Given the description of an element on the screen output the (x, y) to click on. 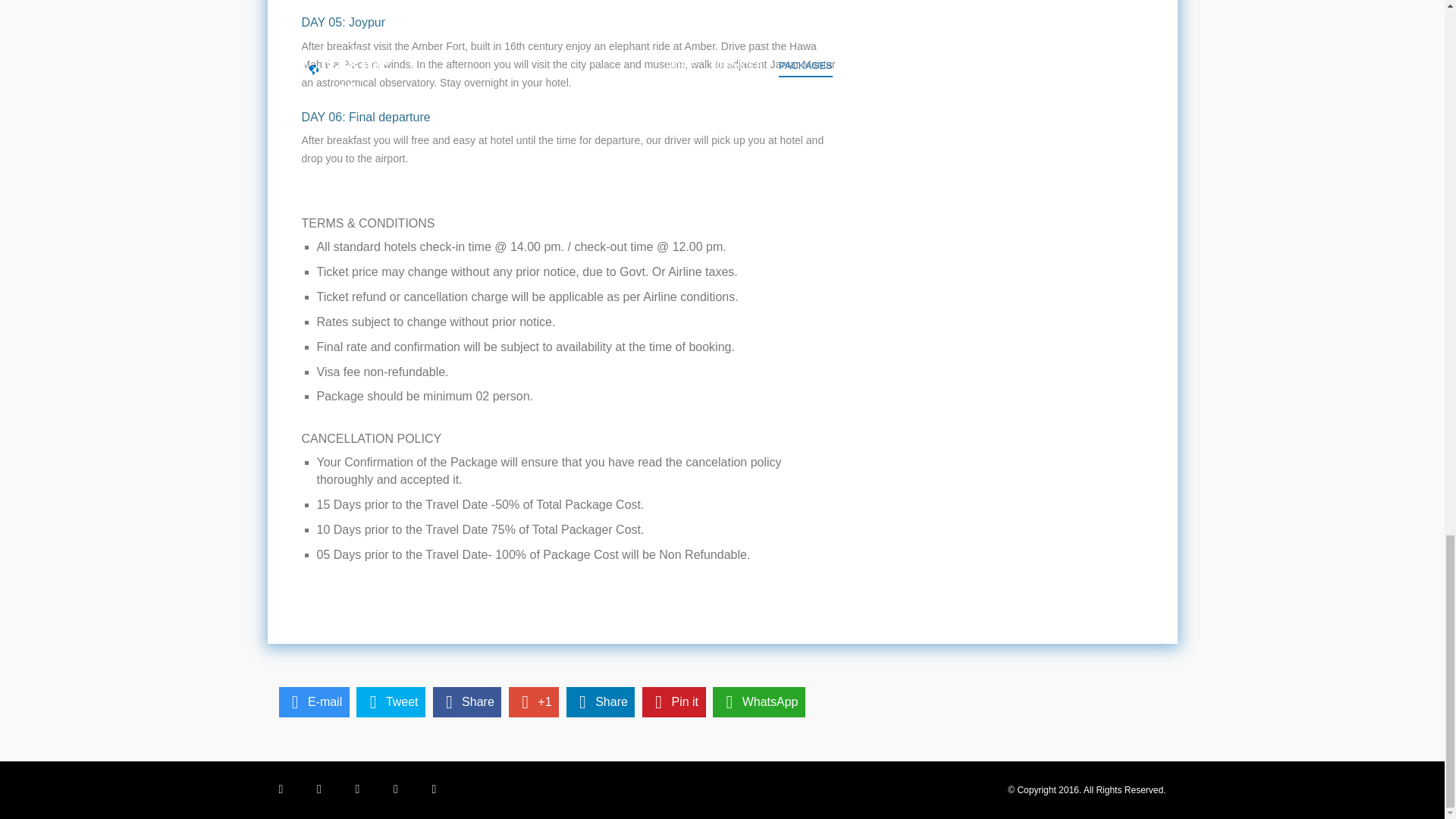
Share (467, 702)
WhatsApp (759, 702)
Share (600, 702)
Tweet (390, 702)
Pin it (674, 702)
E-mail (314, 702)
